Given the description of an element on the screen output the (x, y) to click on. 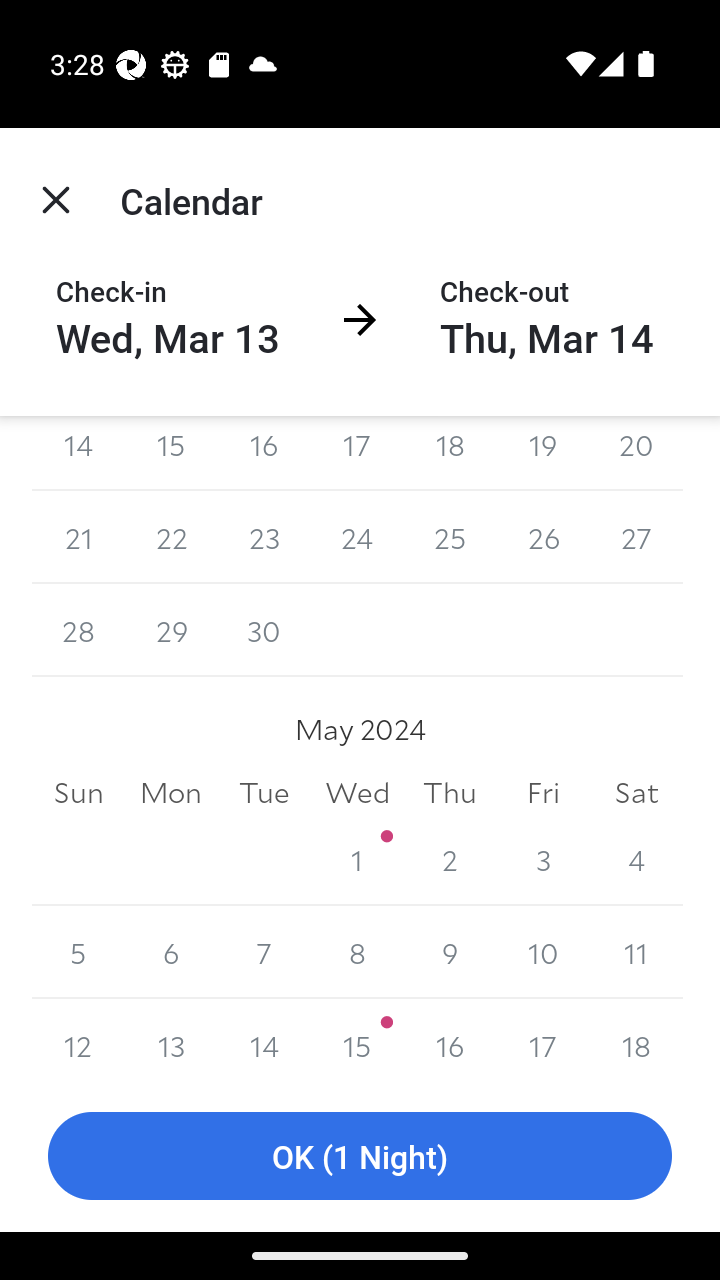
14 14 April 2024 (78, 453)
15 15 April 2024 (171, 453)
16 16 April 2024 (264, 453)
17 17 April 2024 (357, 453)
18 18 April 2024 (449, 453)
19 19 April 2024 (542, 453)
20 20 April 2024 (636, 453)
21 21 April 2024 (78, 537)
22 22 April 2024 (171, 537)
23 23 April 2024 (264, 537)
24 24 April 2024 (357, 537)
25 25 April 2024 (449, 537)
26 26 April 2024 (542, 537)
27 27 April 2024 (636, 537)
28 28 April 2024 (78, 630)
29 29 April 2024 (171, 630)
30 30 April 2024 (264, 630)
Sun (78, 791)
Mon (171, 791)
Tue (264, 791)
Wed (357, 791)
Thu (449, 791)
Fri (542, 791)
Sat (636, 791)
1 1 May 2024 (357, 859)
2 2 May 2024 (449, 859)
3 3 May 2024 (542, 859)
4 4 May 2024 (636, 859)
5 5 May 2024 (78, 952)
6 6 May 2024 (171, 952)
7 7 May 2024 (264, 952)
8 8 May 2024 (357, 952)
9 9 May 2024 (449, 952)
10 10 May 2024 (542, 952)
11 11 May 2024 (636, 952)
12 12 May 2024 (78, 1039)
13 13 May 2024 (171, 1039)
14 14 May 2024 (264, 1039)
15 15 May 2024 (357, 1039)
16 16 May 2024 (449, 1039)
17 17 May 2024 (542, 1039)
18 18 May 2024 (636, 1039)
OK (1 Night) (359, 1156)
